Given the description of an element on the screen output the (x, y) to click on. 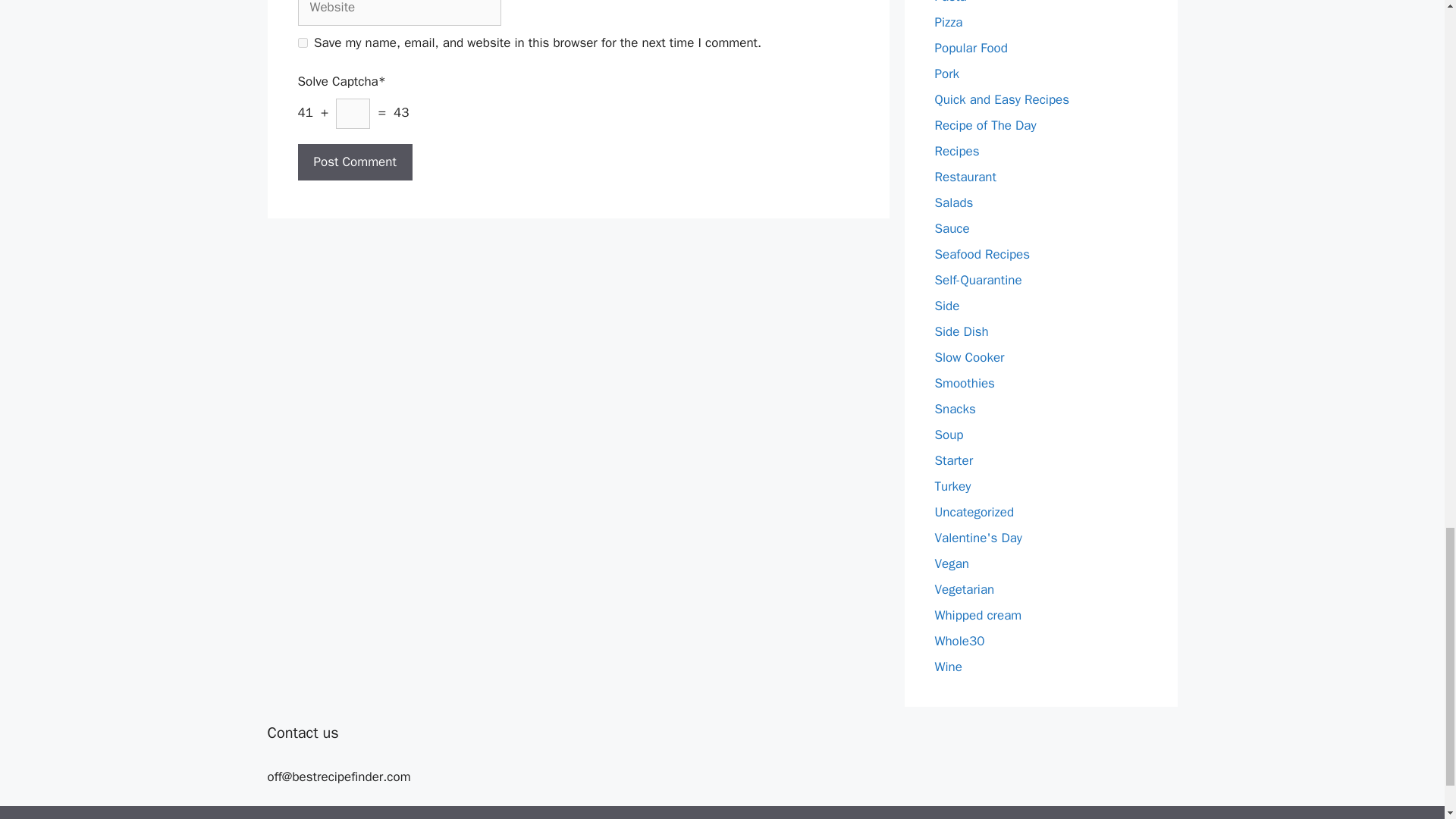
Post Comment (354, 162)
yes (302, 42)
Post Comment (354, 162)
